Given the description of an element on the screen output the (x, y) to click on. 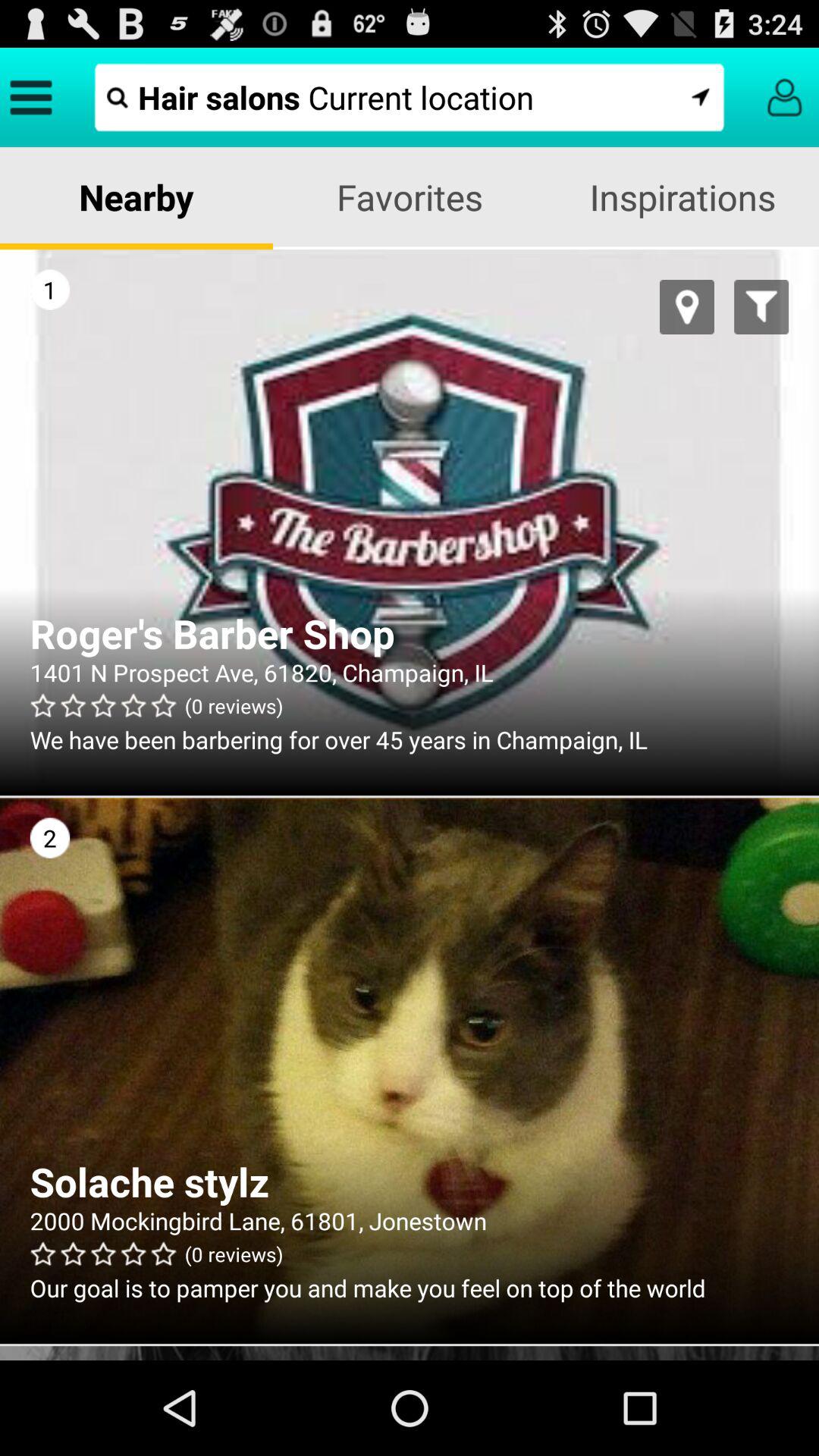
select the 2000 mockingbird lane item (409, 1220)
